Given the description of an element on the screen output the (x, y) to click on. 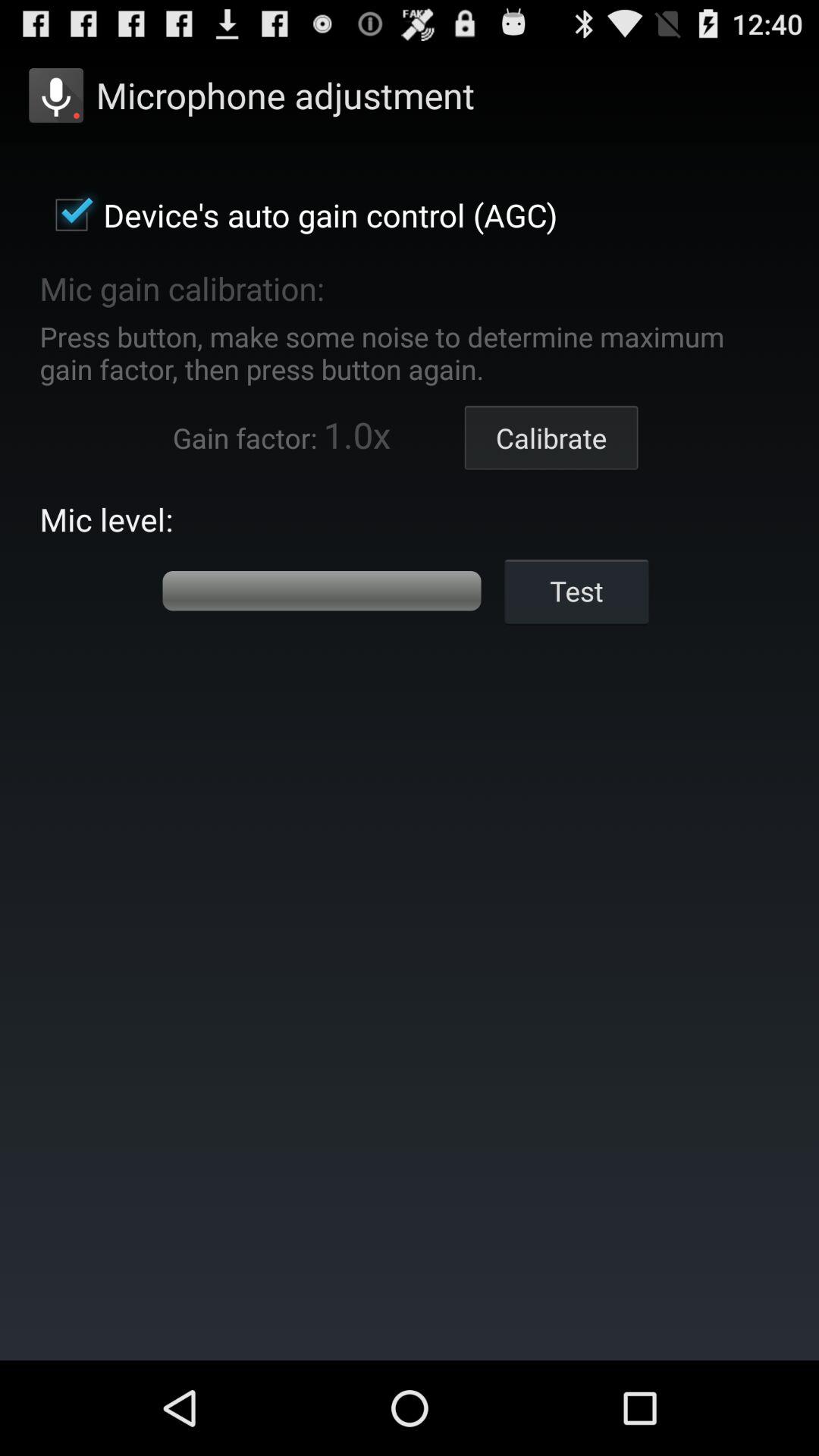
turn off the item below the calibrate item (576, 590)
